Given the description of an element on the screen output the (x, y) to click on. 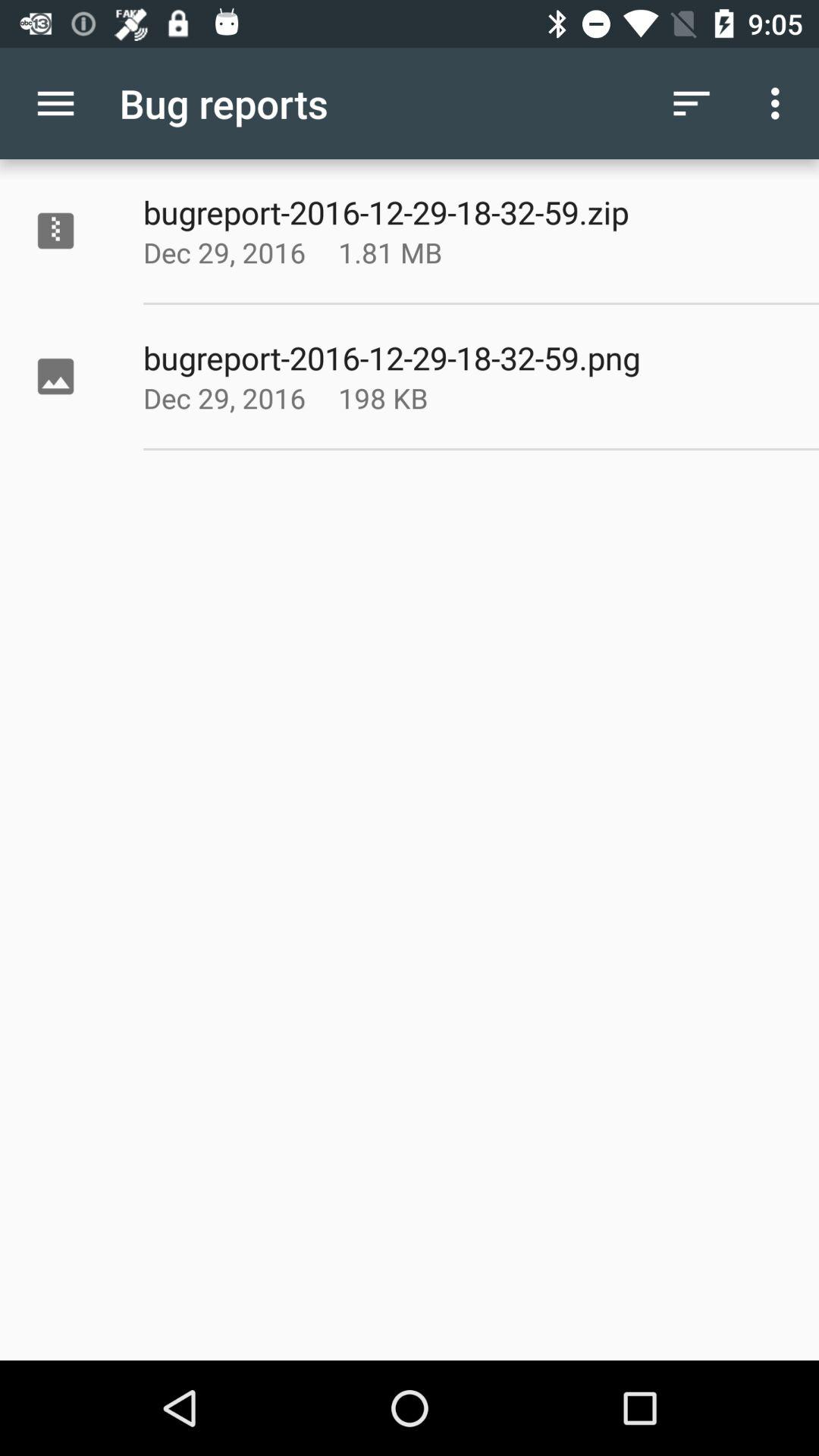
choose item above bugreport 2016 12 (691, 103)
